Given the description of an element on the screen output the (x, y) to click on. 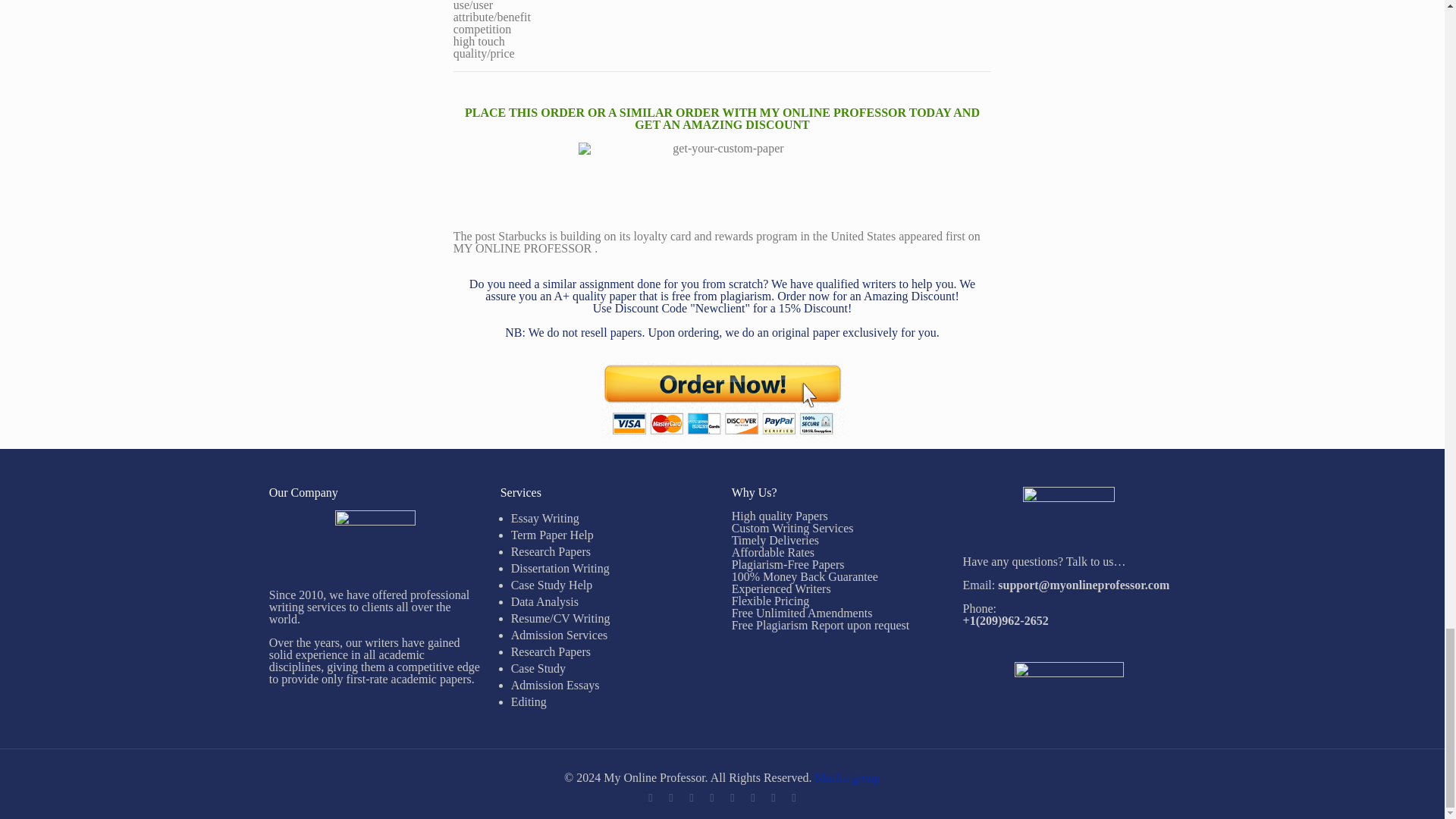
Muffin group (846, 777)
Skype (650, 797)
Twitter (711, 797)
Pinterest (772, 797)
YouTube (731, 797)
Instagram (794, 797)
LinkedIn (752, 797)
Facebook (670, 797)
